Given the description of an element on the screen output the (x, y) to click on. 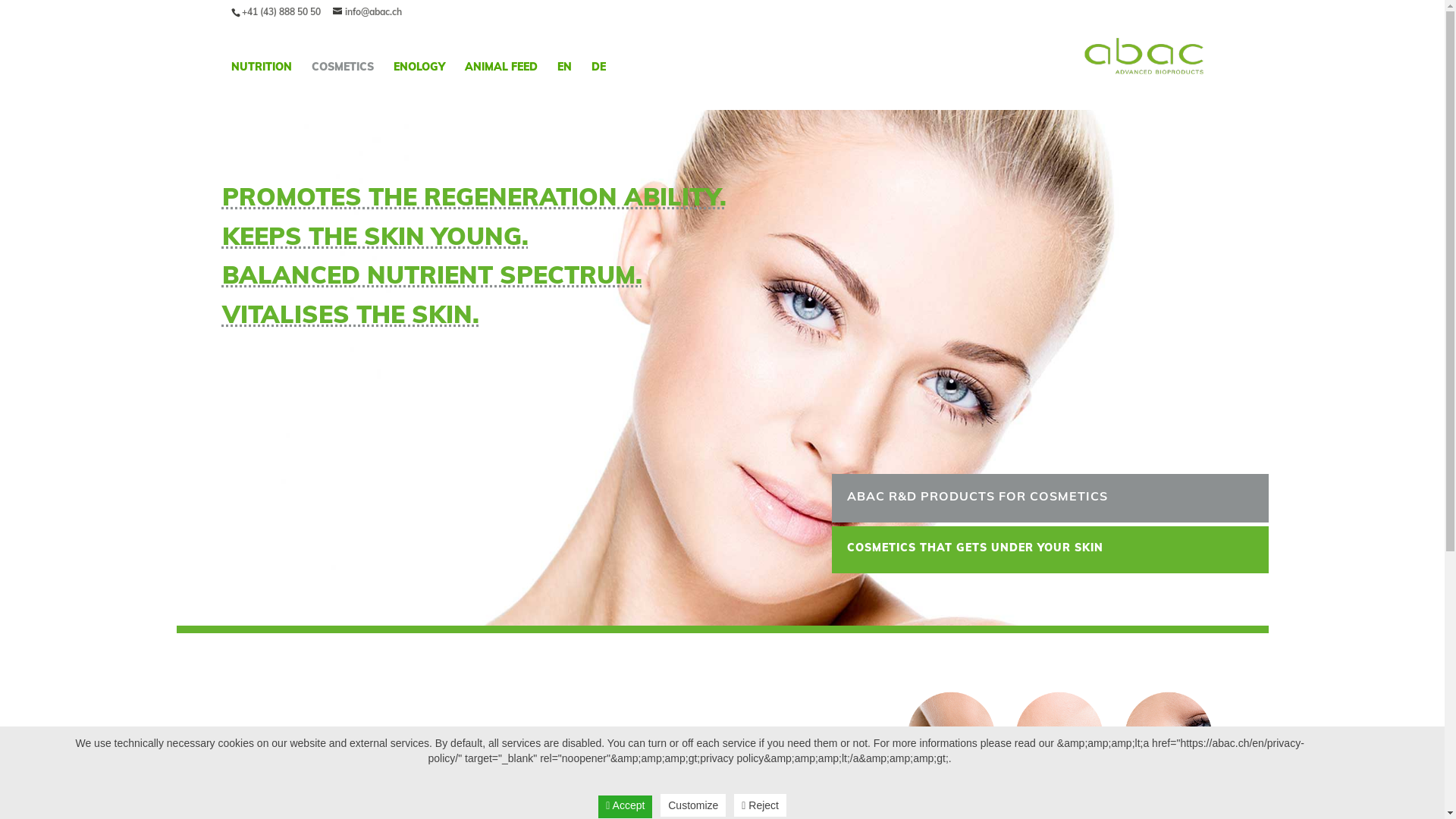
ANIMAL FEED Element type: text (500, 85)
info@abac.ch Element type: text (366, 11)
NUTRITION Element type: text (260, 85)
EN Element type: text (563, 85)
COSMETICS Element type: text (341, 85)
DE Element type: text (598, 85)
Customize Element type: text (692, 804)
ENOLOGY Element type: text (418, 85)
